Given the description of an element on the screen output the (x, y) to click on. 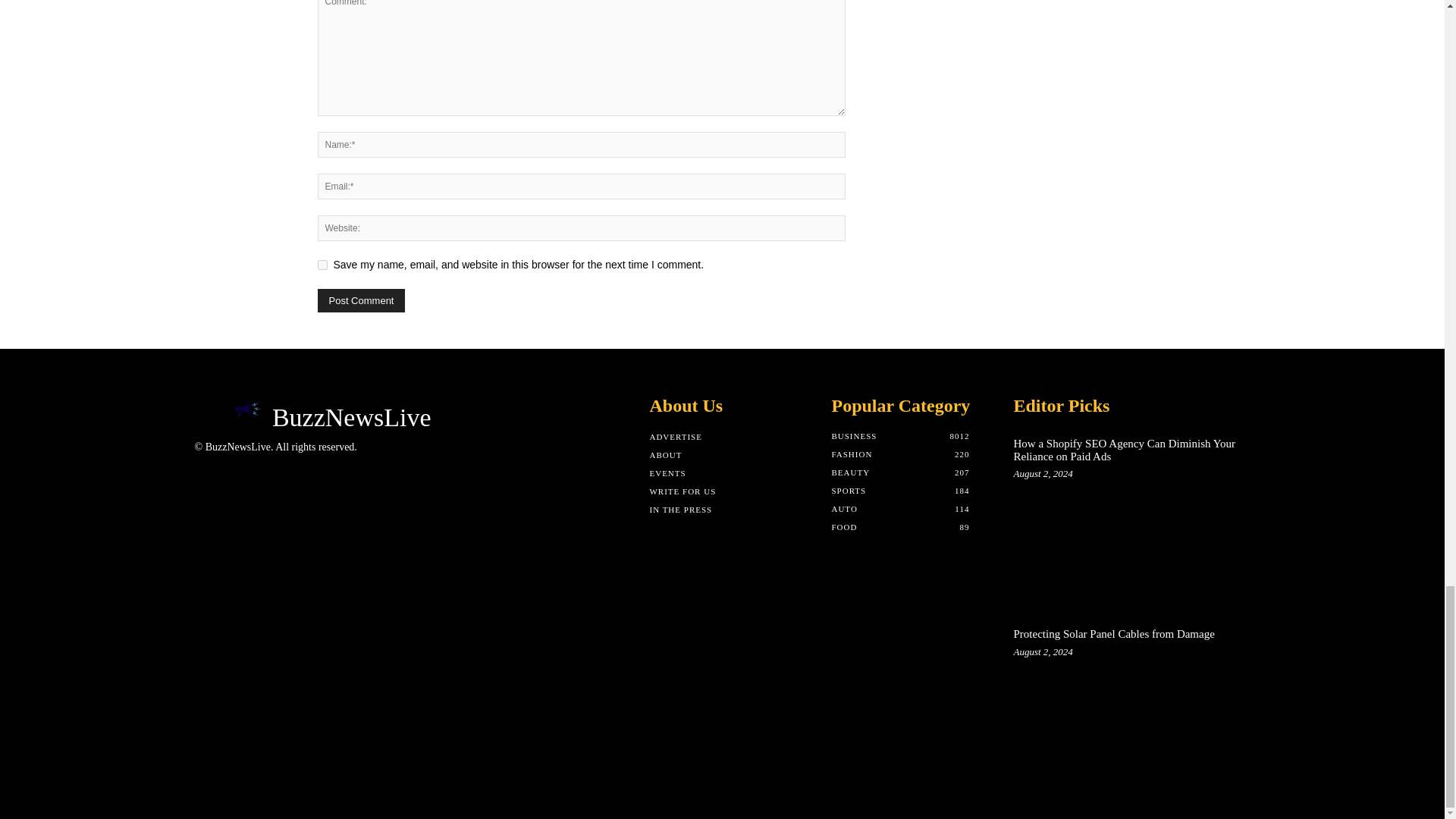
Post Comment (360, 300)
yes (321, 265)
